Given the description of an element on the screen output the (x, y) to click on. 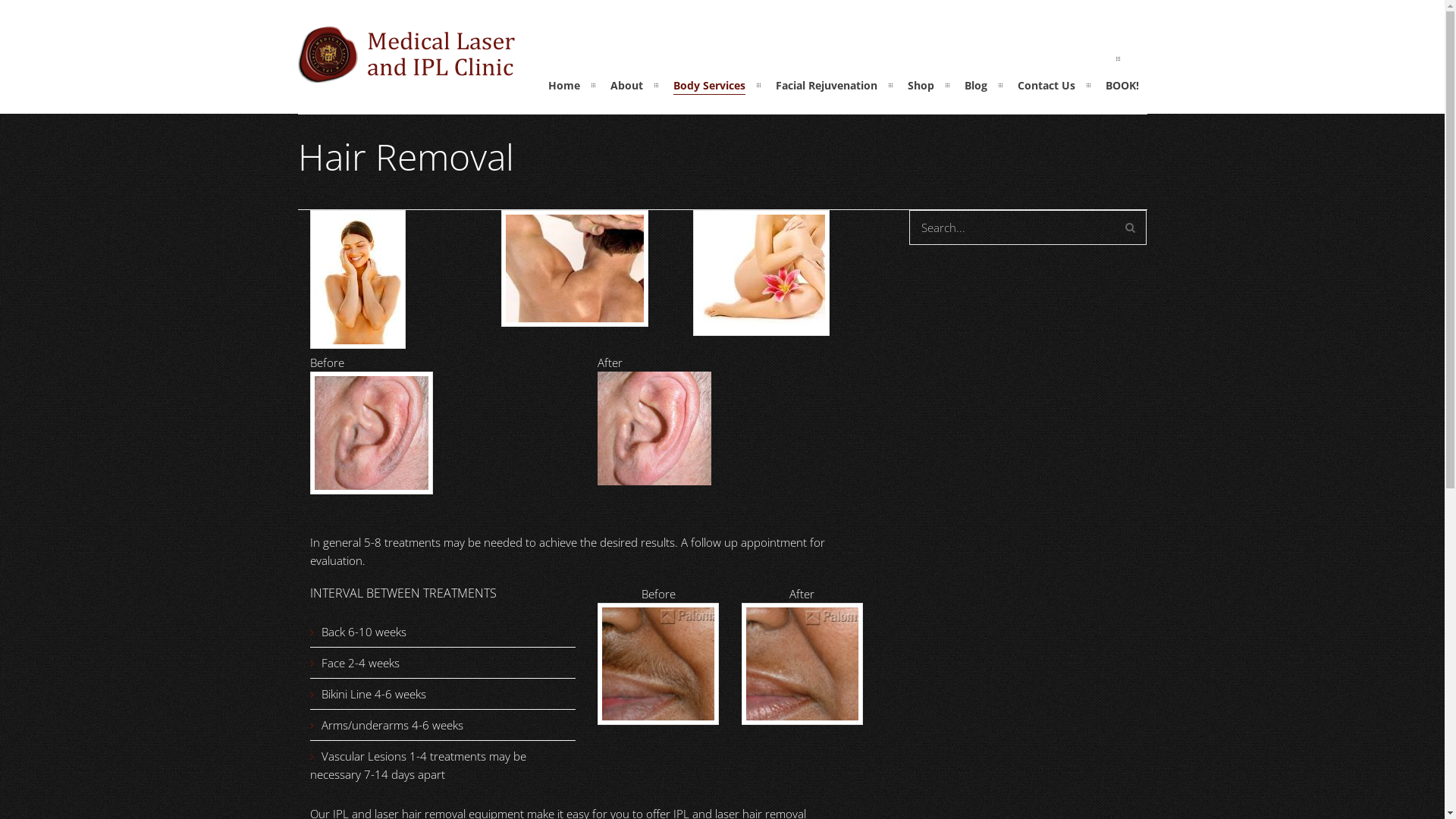
Medical Laser and IPL Clinic Element type: hover (405, 73)
Search Element type: text (1129, 227)
Contact Us Element type: text (1046, 84)
Facial Rejuvenation Element type: text (826, 84)
About Element type: text (626, 84)
Shop Element type: text (920, 84)
BOOK! Element type: text (1122, 84)
Blog Element type: text (975, 84)
Body Services Element type: text (709, 84)
Home Element type: text (564, 84)
